Given the description of an element on the screen output the (x, y) to click on. 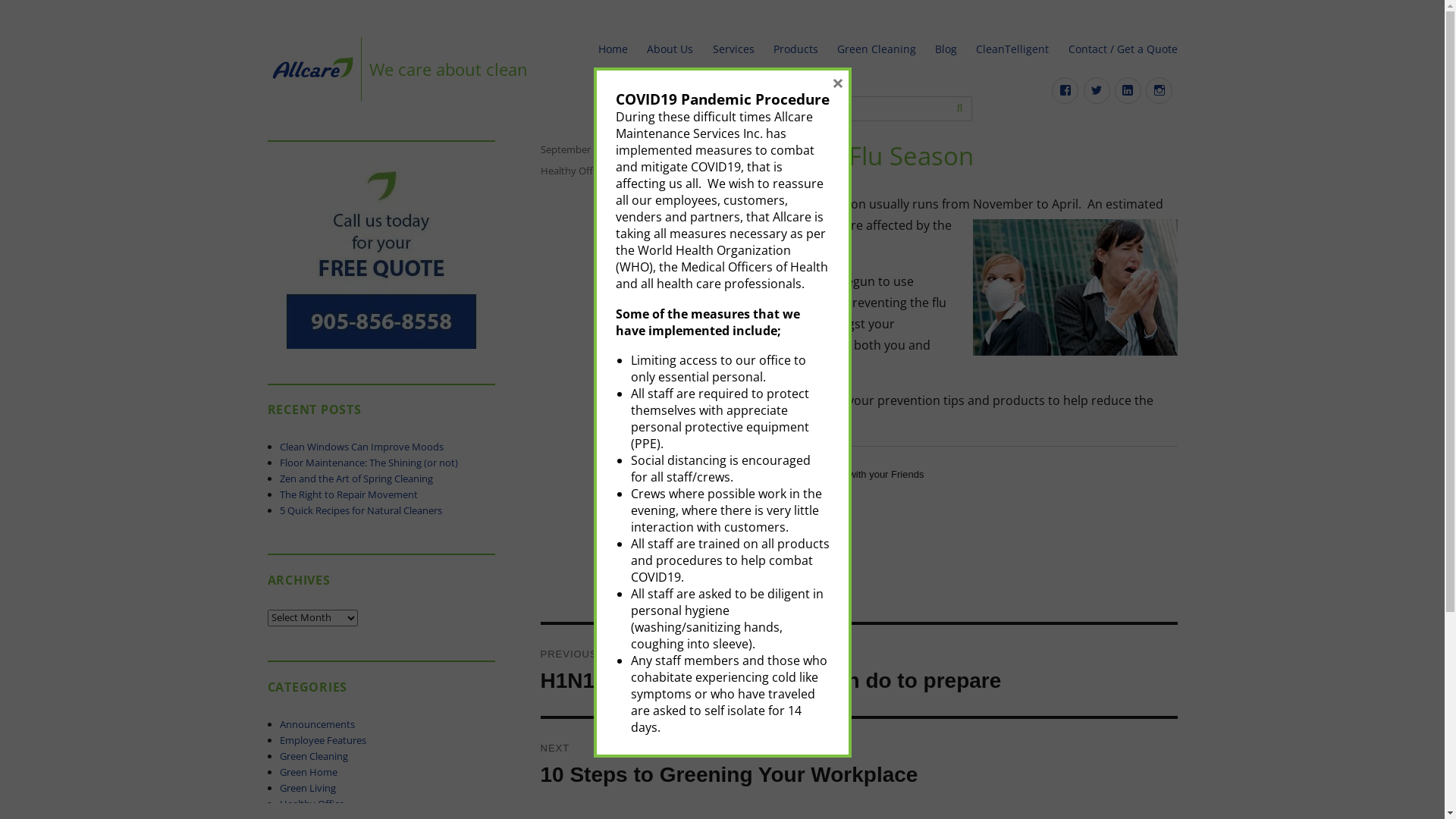
Contact / Get a Quote Element type: text (1122, 48)
Twitter Element type: text (1096, 90)
The Right to Repair Movement Element type: text (348, 494)
CleanTelligent Element type: text (1012, 48)
Click to share on LinkedIn (Opens in new window) Element type: text (824, 501)
About Us Element type: text (669, 48)
Clean Windows Can Improve Moods Element type: text (361, 446)
Floor Maintenance: The Shining (or not) Element type: text (368, 462)
5 Quick Recipes for Natural Cleaners Element type: text (360, 510)
Green Cleaning Element type: text (313, 755)
Green Home Element type: text (308, 771)
Healthy Office Element type: text (311, 803)
Green Cleaning Element type: text (876, 48)
info@allcareservices.ca Element type: text (736, 108)
Green Living Element type: text (307, 787)
NEXT
Next post:
10 Steps to Greening Your Workplace Element type: text (857, 763)
Click to email a link to a friend (Opens in new window) Element type: text (794, 501)
Services Element type: text (732, 48)
LinkedIN Element type: text (1127, 90)
Instragram Element type: text (1158, 90)
Home Element type: text (613, 48)
Employee Features Element type: text (322, 739)
Click to share on Facebook (Opens in new window) Element type: text (764, 501)
Products Element type: text (795, 48)
Click to share on Twitter (Opens in new window) Element type: text (733, 501)
Healthy Office Element type: text (571, 170)
Zen and the Art of Spring Cleaning Element type: text (356, 478)
Facebook Element type: text (1064, 90)
Blog Element type: text (945, 48)
Announcements Element type: text (316, 724)
Uncategorized Element type: text (641, 170)
